Given the description of an element on the screen output the (x, y) to click on. 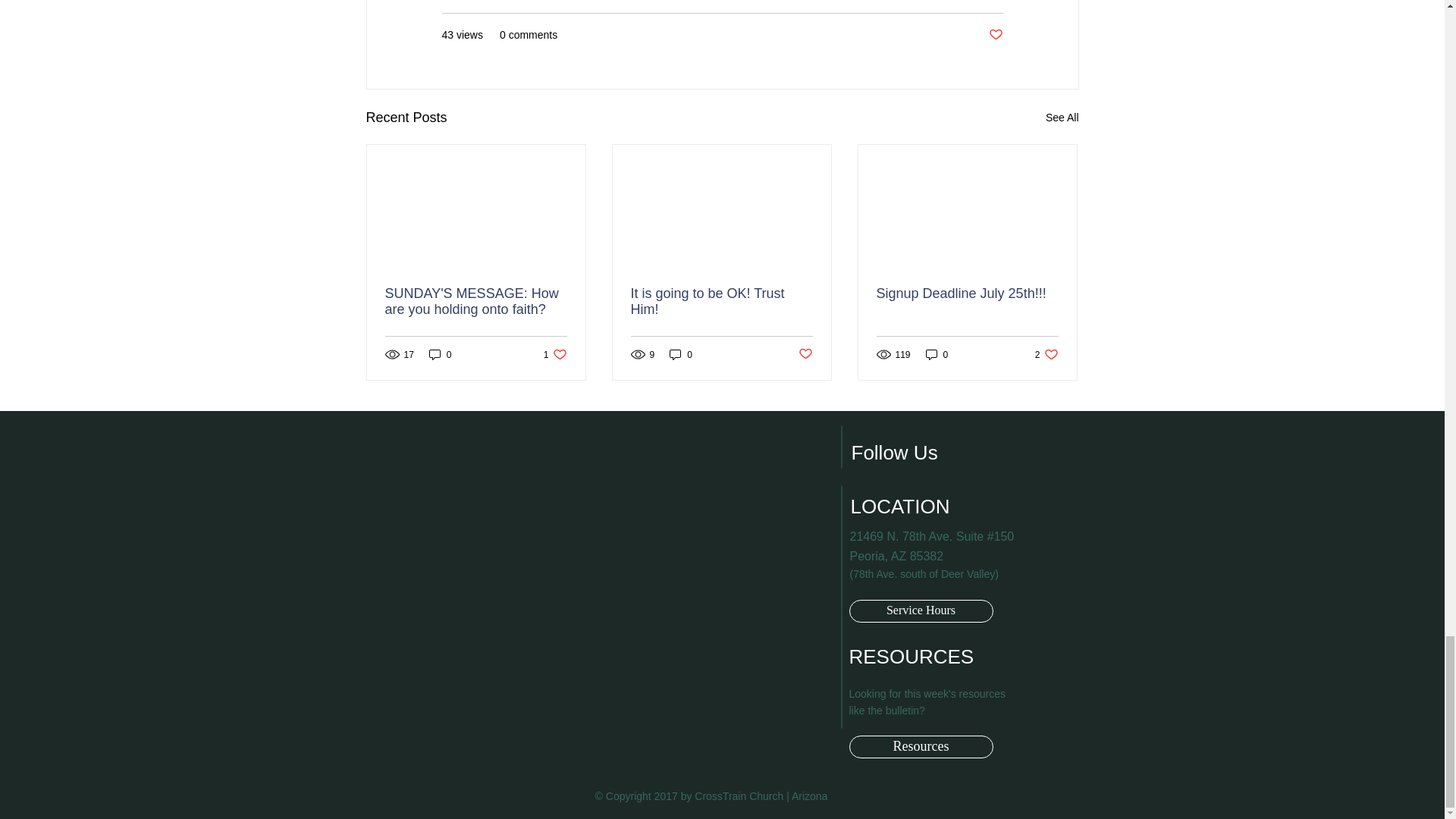
0 (937, 354)
Signup Deadline July 25th!!! (555, 354)
0 (967, 293)
It is going to be OK! Trust Him! (440, 354)
0 (721, 301)
SUNDAY'S MESSAGE: How are you holding onto faith? (681, 354)
Google Maps (476, 301)
See All (599, 601)
Post not marked as liked (1046, 354)
Post not marked as liked (1061, 117)
